Given the description of an element on the screen output the (x, y) to click on. 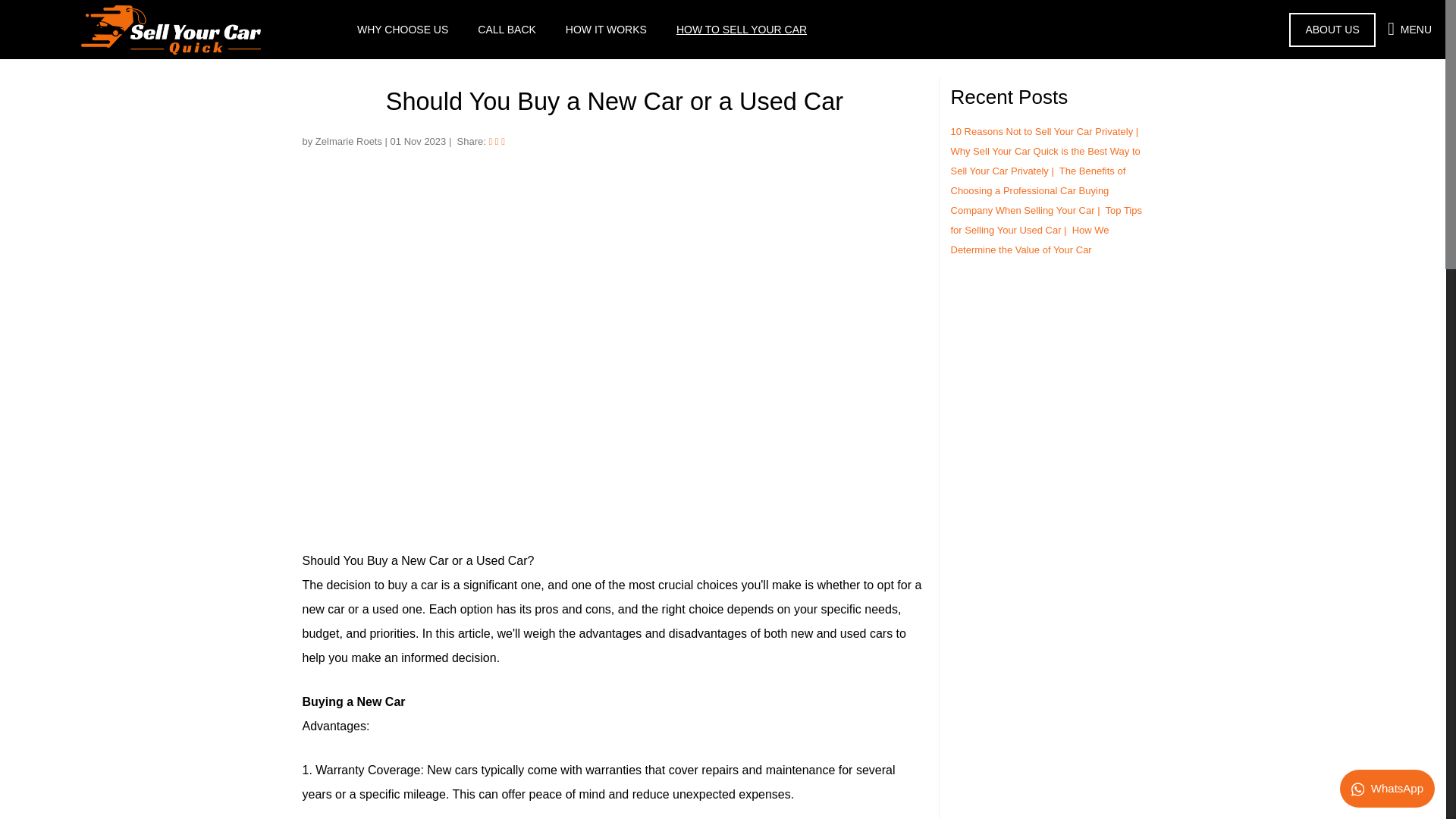
 WhatsApp (1387, 786)
Share Sell Your Car Quick  (489, 140)
CALL BACK (507, 29)
HOW TO SELL YOUR CAR (741, 29)
HOW IT WORKS (605, 29)
WHY CHOOSE US (402, 29)
ABOUT US (1331, 28)
  MENU (1409, 29)
How We Determine the Value of Your Car  (1029, 239)
